Given the description of an element on the screen output the (x, y) to click on. 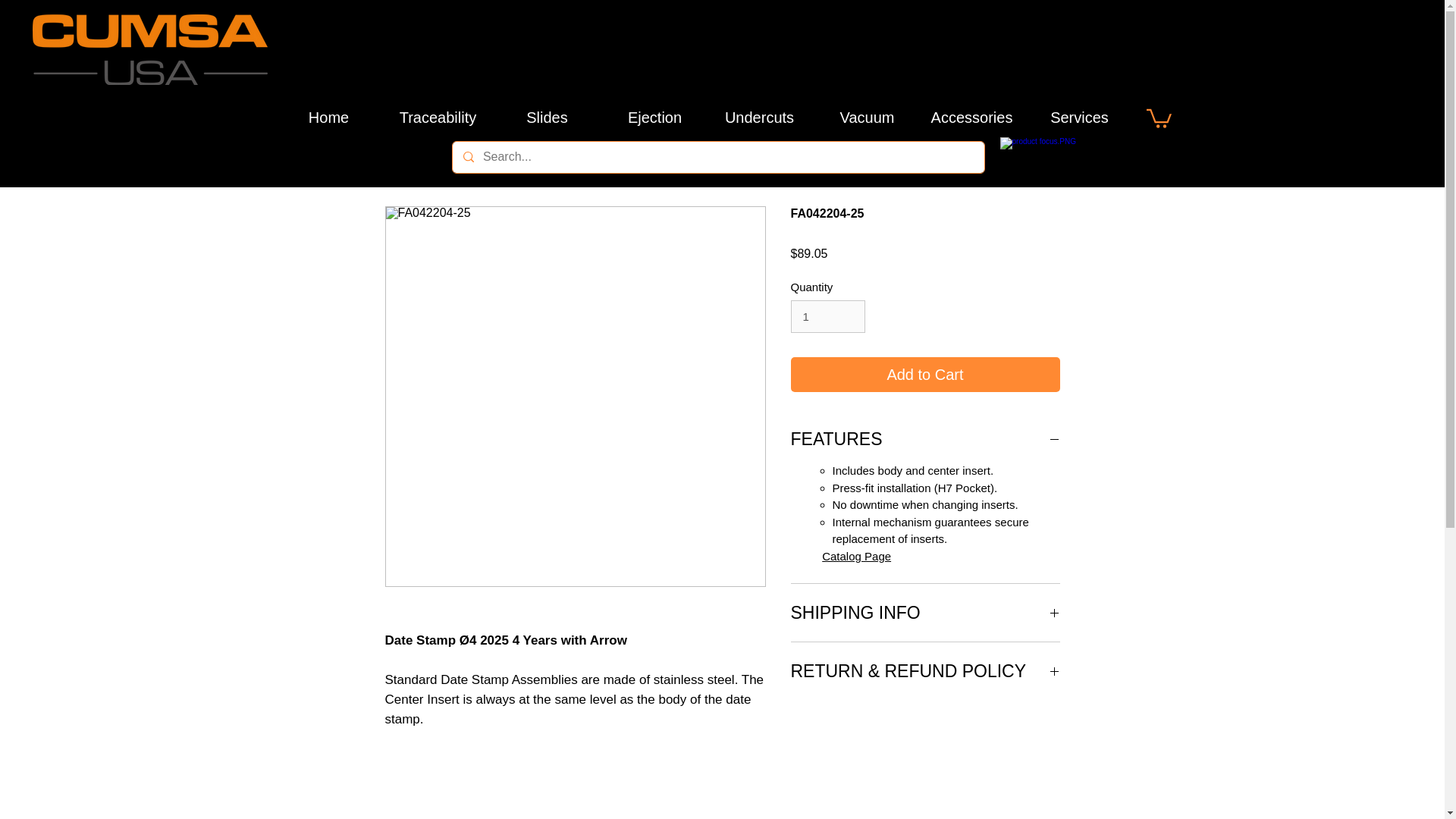
Catalog Page (856, 555)
Vacuum (866, 117)
Home (328, 117)
1 (827, 316)
Accessories (971, 117)
Undercuts (758, 117)
SHIPPING INFO (924, 612)
Ejection (653, 117)
Add to Cart (924, 374)
Slides (546, 117)
